Given the description of an element on the screen output the (x, y) to click on. 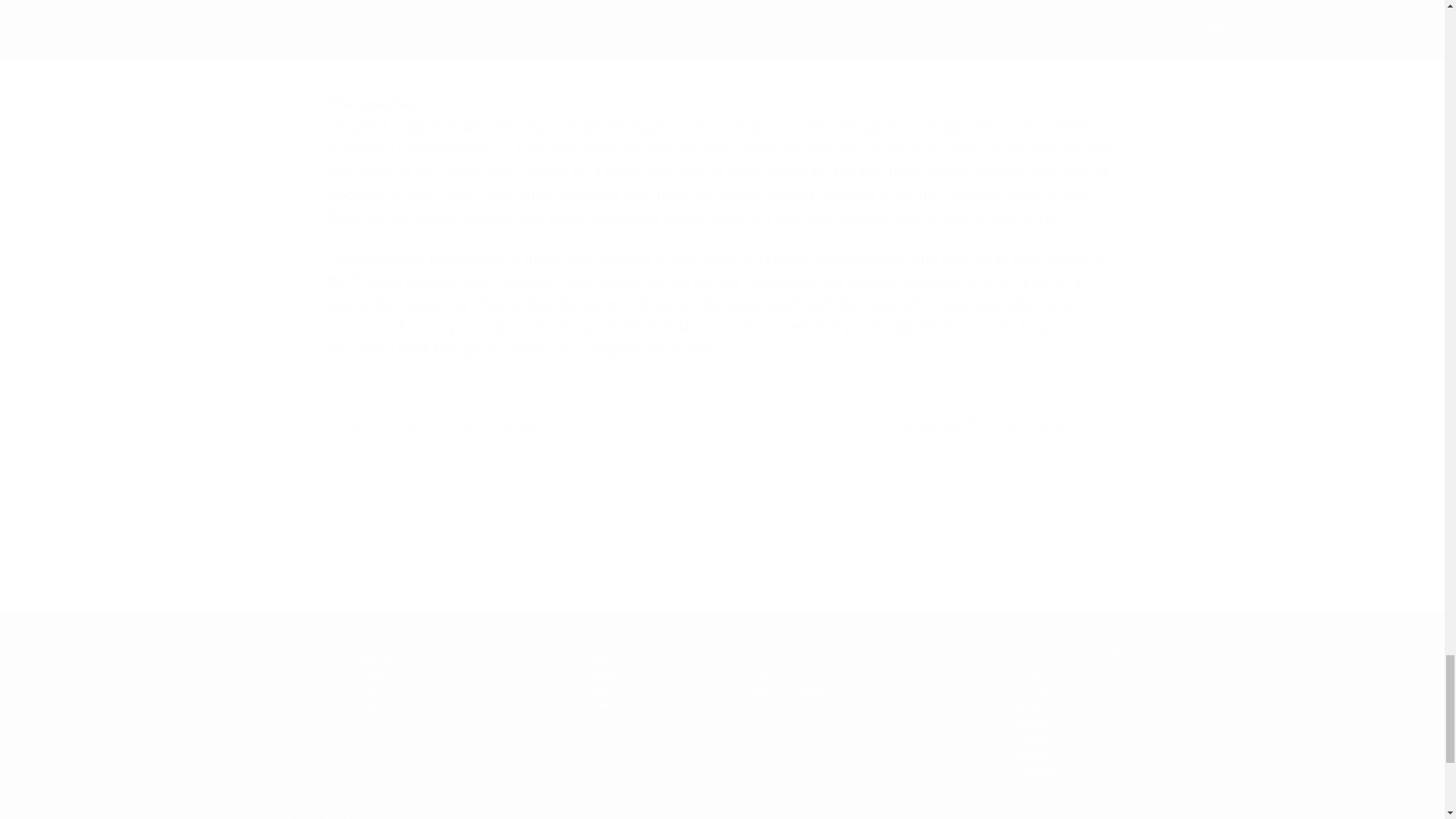
UEFA Foundation (786, 693)
News (598, 657)
Video (370, 688)
youtube (355, 816)
History (601, 673)
Matches (376, 657)
UEFA.com (769, 678)
Italiano (1029, 756)
Teams (371, 704)
History (601, 673)
About (598, 688)
Draws (371, 673)
Matches (376, 657)
Teams (371, 704)
twitter (279, 816)
